Given the description of an element on the screen output the (x, y) to click on. 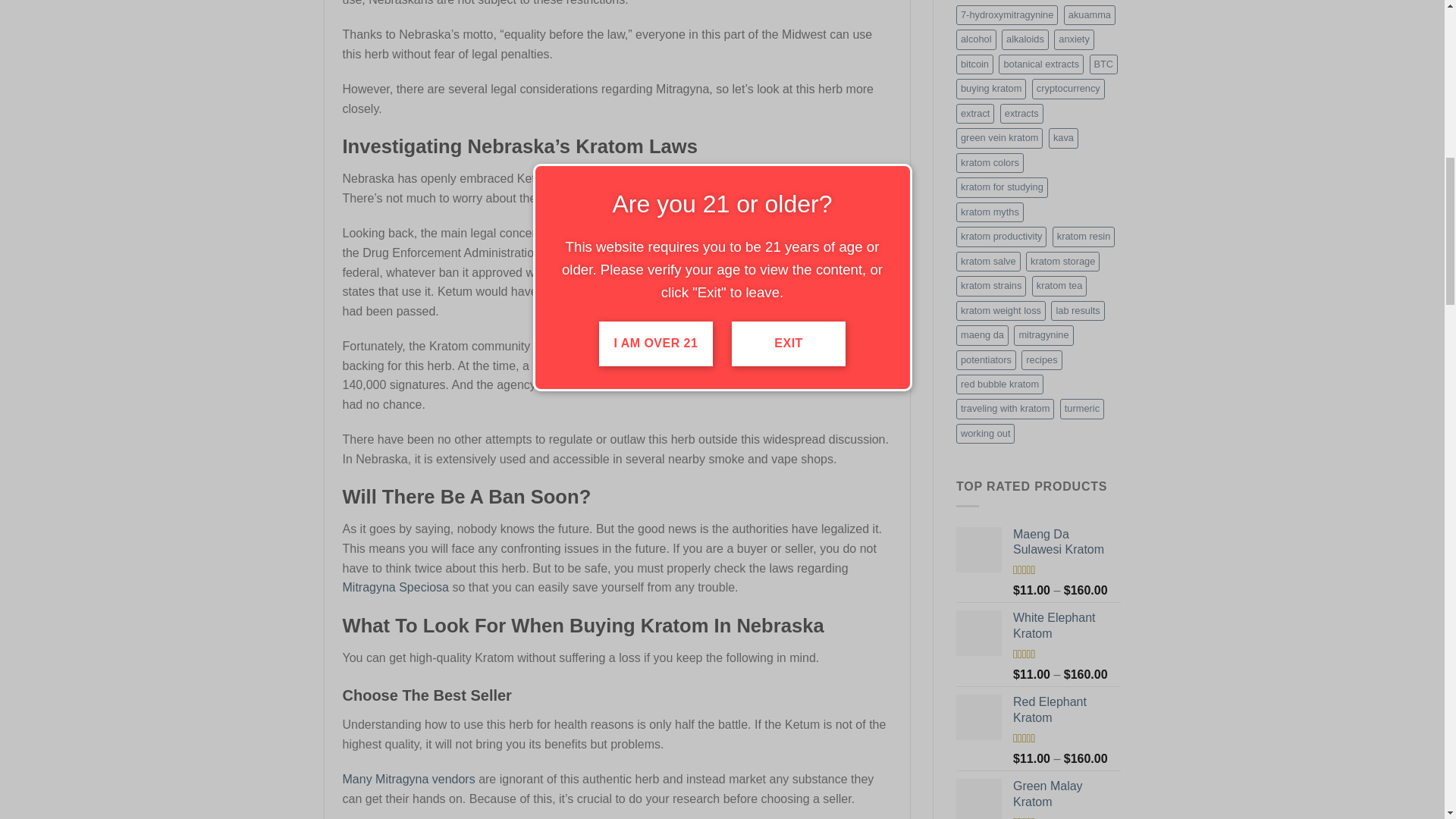
Many Mitragyna vendors (409, 779)
Mitragyna Speciosa (395, 586)
